Given the description of an element on the screen output the (x, y) to click on. 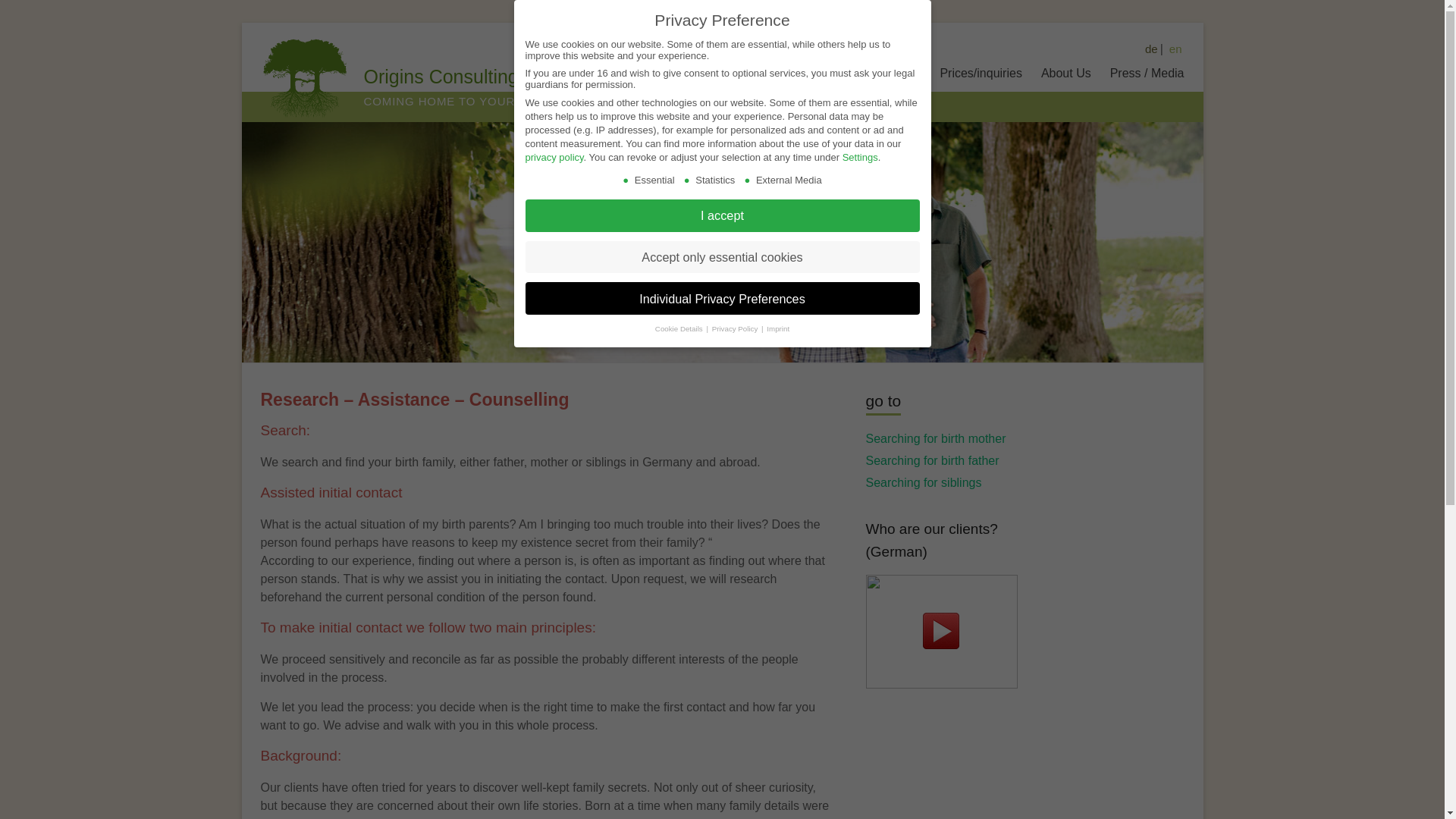
en (1176, 48)
Origins Consulting (441, 76)
privacy policy (553, 156)
de (1151, 48)
Searching for siblings (923, 481)
Settings (860, 156)
Cookie Details (679, 328)
Individual Privacy Preferences (721, 297)
Origins Consulting (441, 76)
Searching for birth father (932, 460)
